Given the description of an element on the screen output the (x, y) to click on. 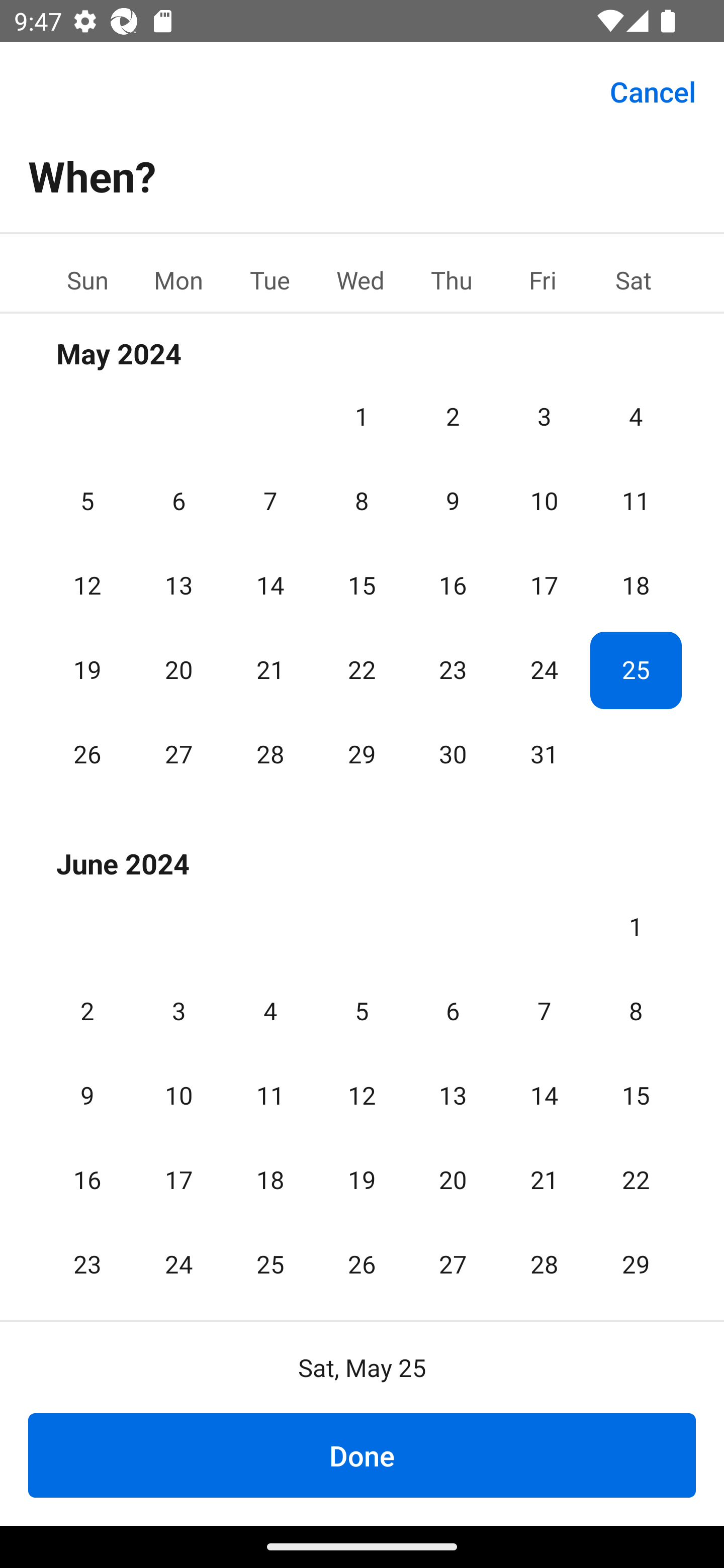
Cancel (652, 90)
Done (361, 1454)
